Given the description of an element on the screen output the (x, y) to click on. 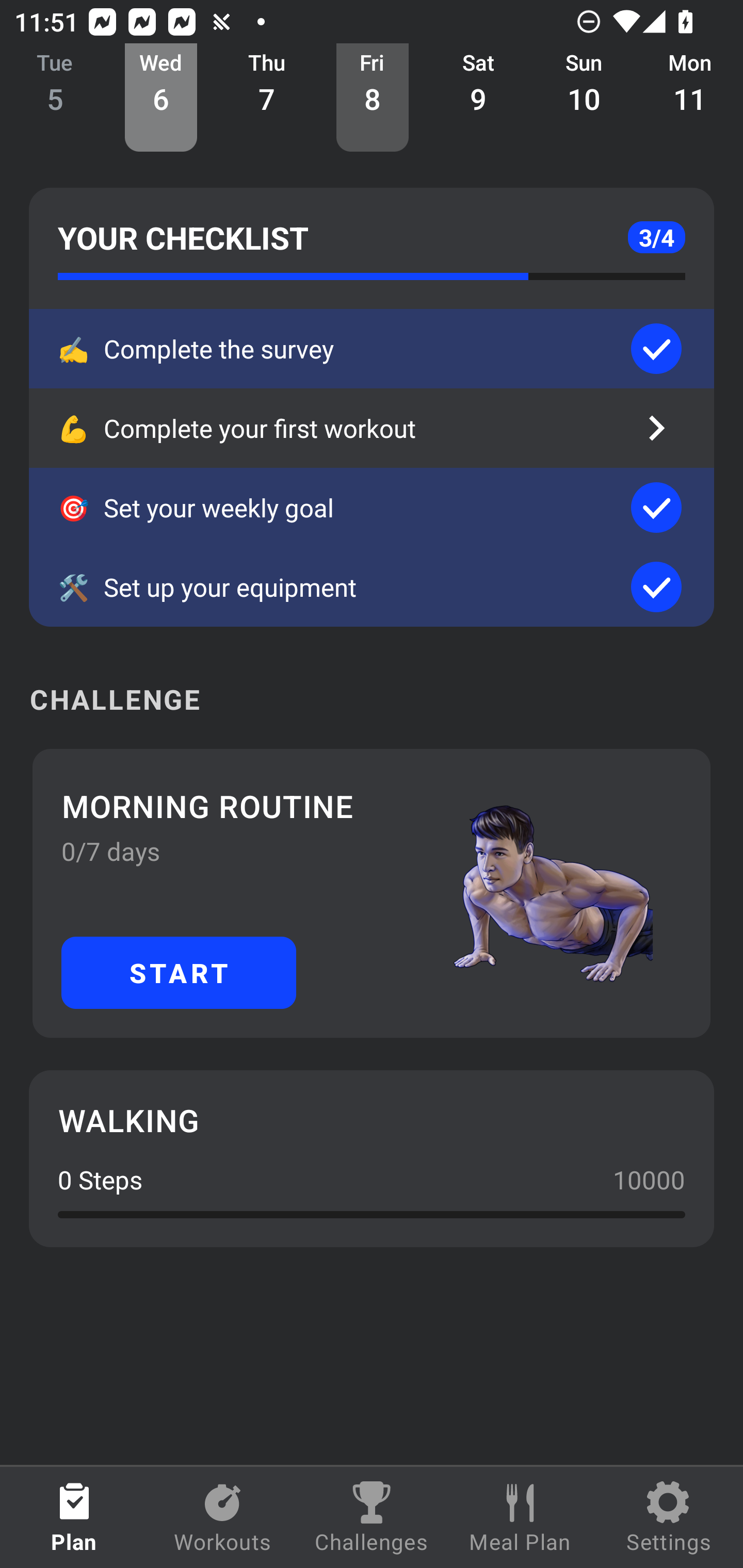
Tue 5 (55, 97)
Wed 6 (160, 97)
Thu 7 (266, 97)
Fri 8 (372, 97)
Sat 9 (478, 97)
Sun 10 (584, 97)
Mon 11 (690, 97)
💪 Complete your first workout (371, 427)
MORNING ROUTINE 0/7 days START (371, 892)
START (178, 972)
WALKING 0 Steps 10000 0.0 (371, 1158)
 Workouts  (222, 1517)
 Challenges  (371, 1517)
 Meal Plan  (519, 1517)
 Settings  (668, 1517)
